Given the description of an element on the screen output the (x, y) to click on. 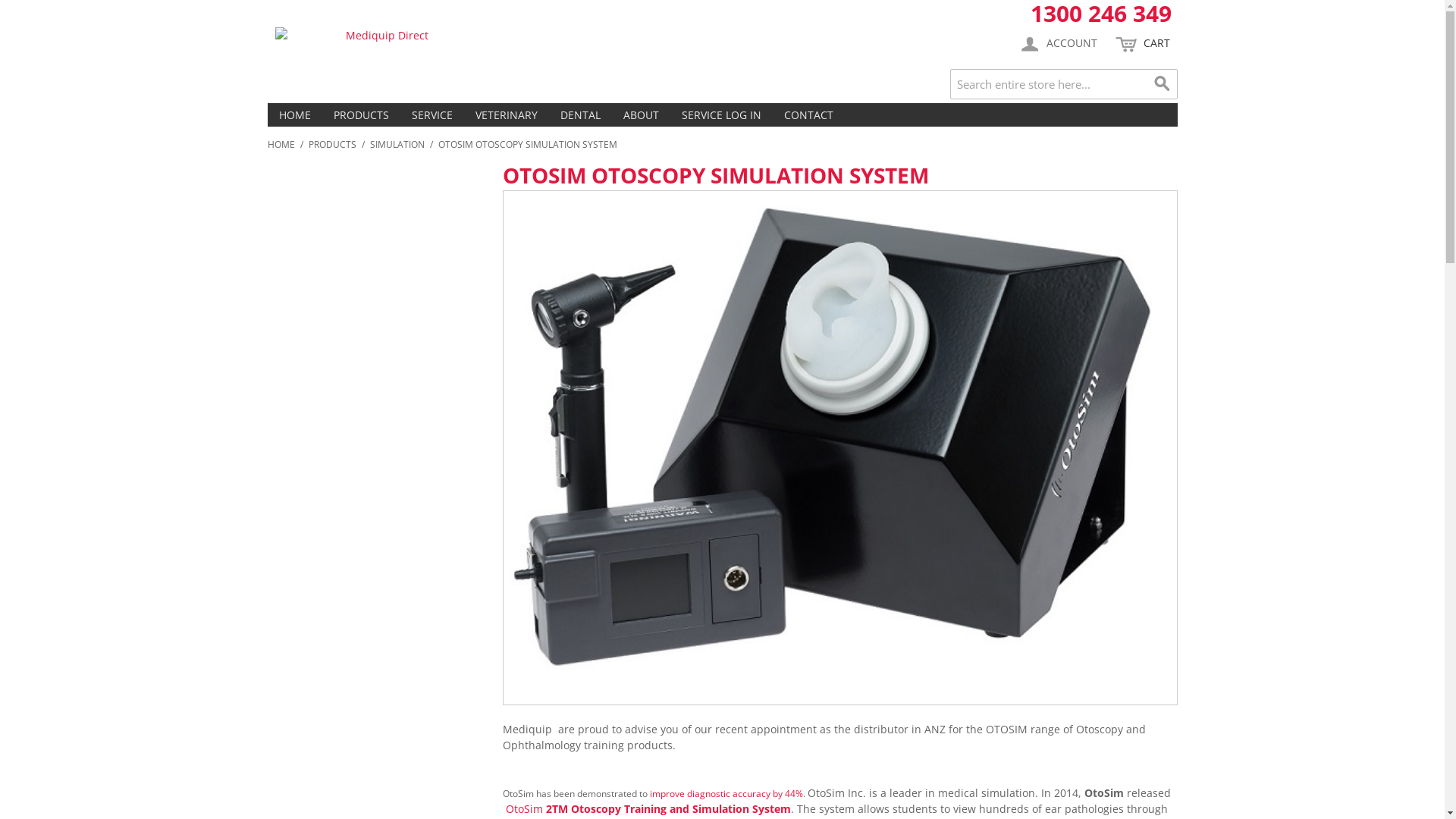
DENTAL Element type: text (580, 114)
SIMULATION Element type: text (397, 144)
OtoSim 2TM Otoscopy Training and Simulation System Element type: text (647, 808)
HOME Element type: text (280, 144)
SERVICE LOG IN Element type: text (721, 114)
VETERINARY Element type: text (506, 114)
improve diagnostic accuracy by 44% Element type: text (725, 793)
SERVICE Element type: text (432, 114)
HOME Element type: text (293, 114)
ACCOUNT Element type: text (1057, 43)
CART Element type: text (1141, 43)
OtoSim Otoscopy Simulation System Element type: hover (840, 447)
ABOUT Element type: text (640, 114)
PRODUCTS Element type: text (360, 114)
Search Element type: hover (1161, 84)
PRODUCTS Element type: text (331, 144)
CONTACT Element type: text (807, 114)
